Given the description of an element on the screen output the (x, y) to click on. 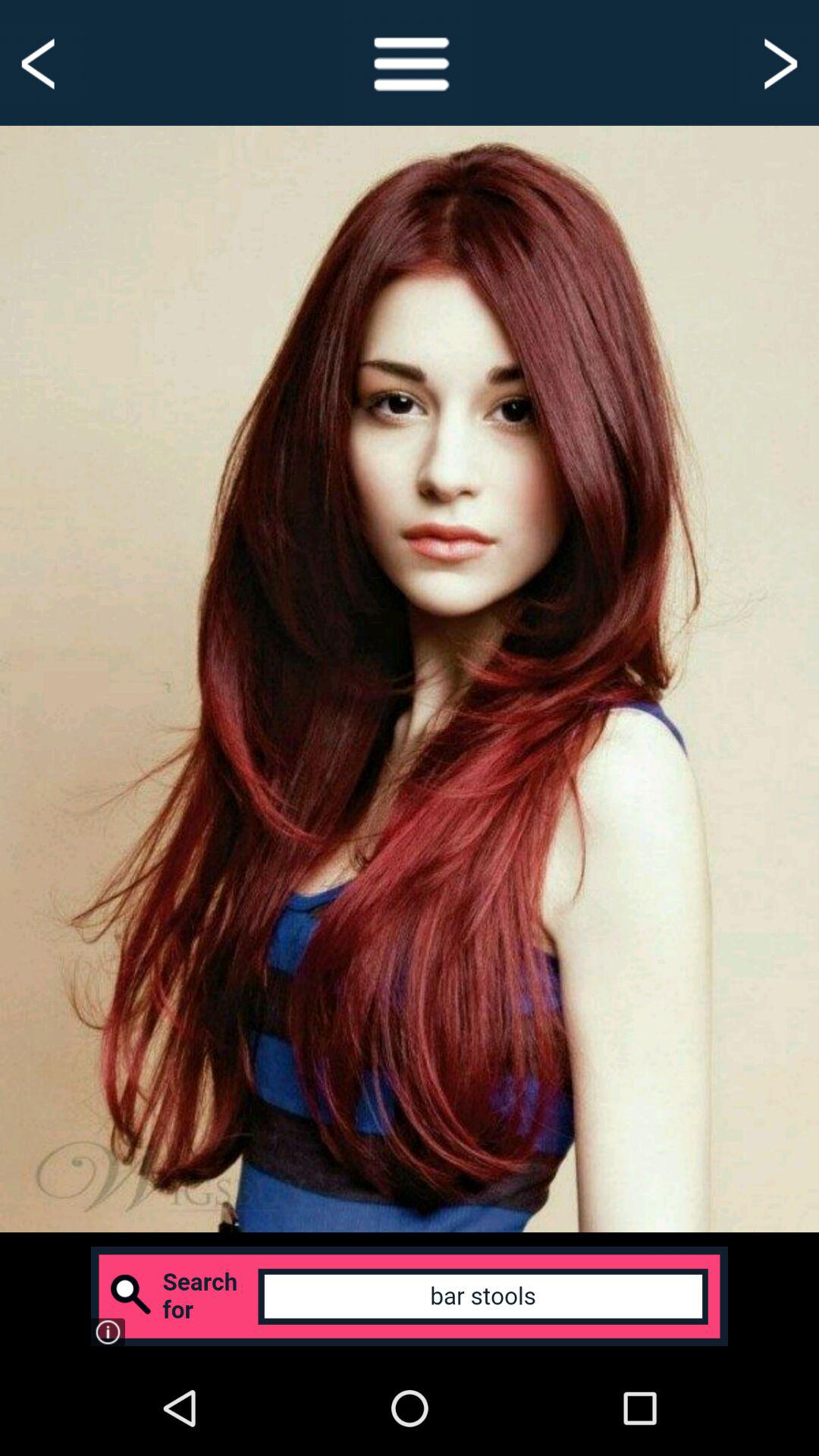
click advertisement (409, 1296)
